Given the description of an element on the screen output the (x, y) to click on. 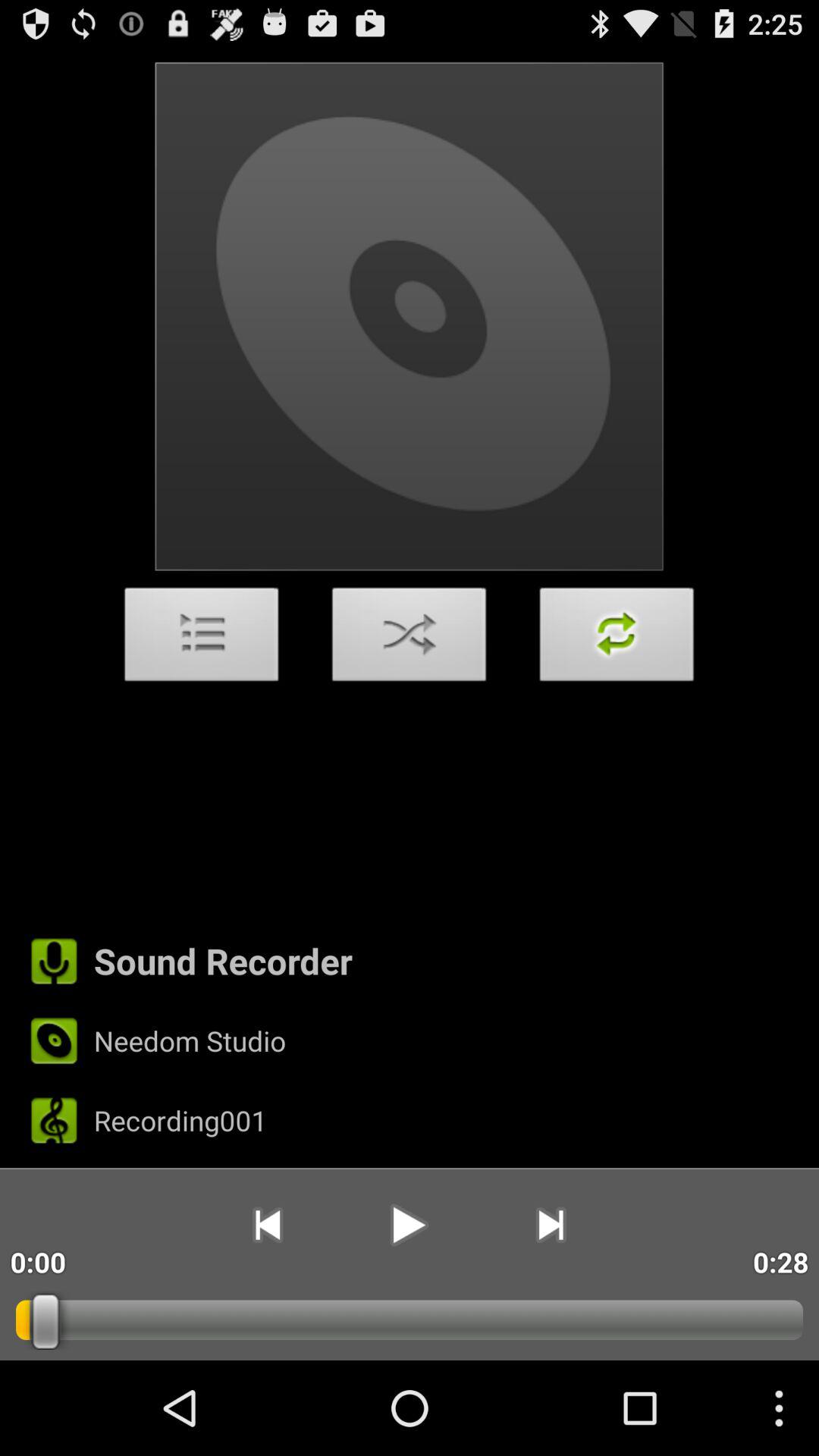
press the icon above the sound recorder item (201, 638)
